Given the description of an element on the screen output the (x, y) to click on. 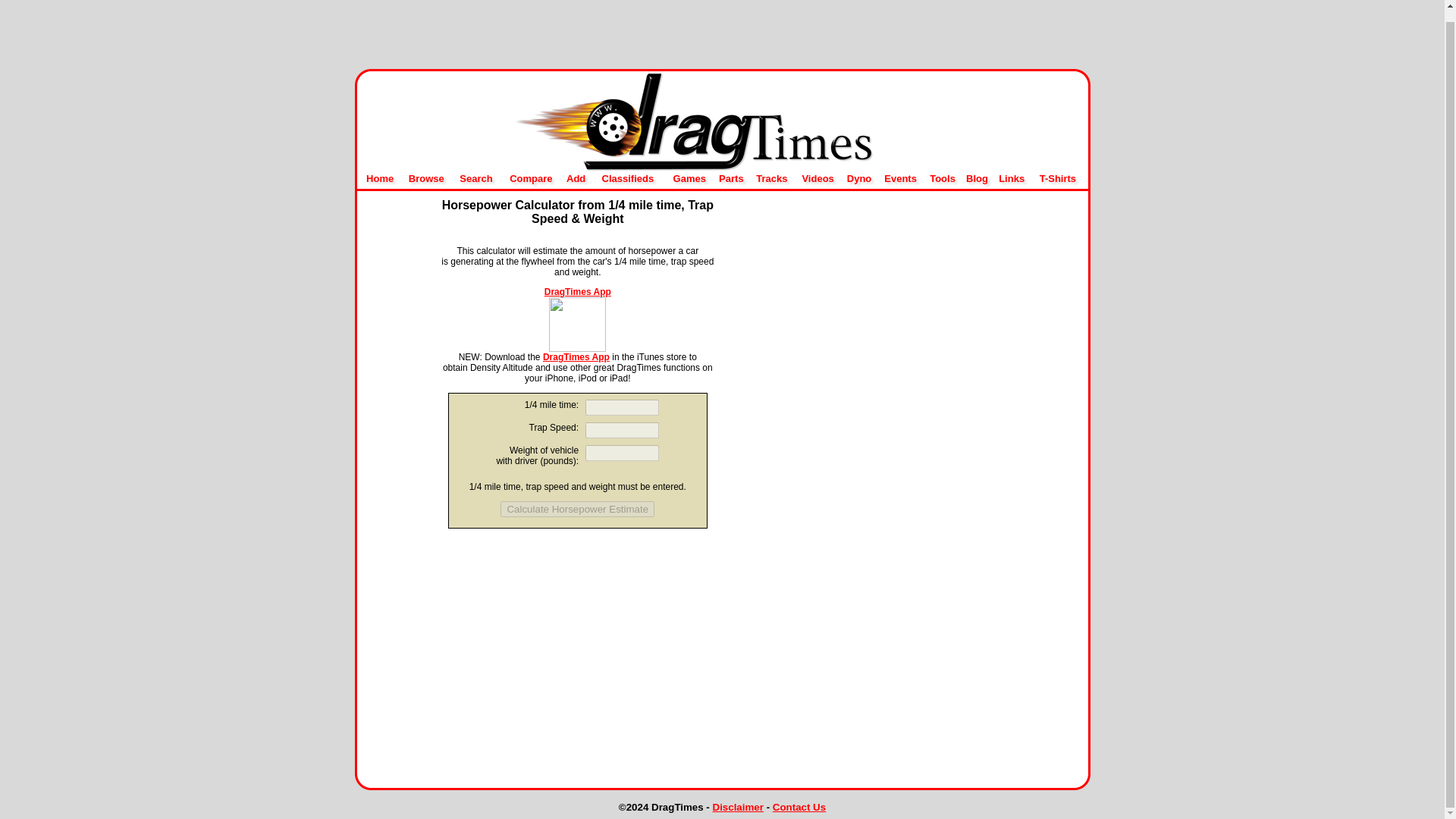
Add Your Drag Racing Timeslip (575, 178)
3rd party ad content (577, 632)
Search Drag Racing Timeslips (476, 178)
Drag Racing Classifieds (627, 178)
DragTimes.com Home (722, 168)
Drag Racing Videos (817, 178)
Drag Racing Parts (731, 178)
Videos (817, 178)
Search (476, 178)
Drag Racing Blog (977, 178)
Tracks (771, 178)
Tools (942, 178)
Compare Drag Racing Timeslips (530, 178)
Calculate Horsepower Estimate (576, 508)
Disclaimer (737, 807)
